Given the description of an element on the screen output the (x, y) to click on. 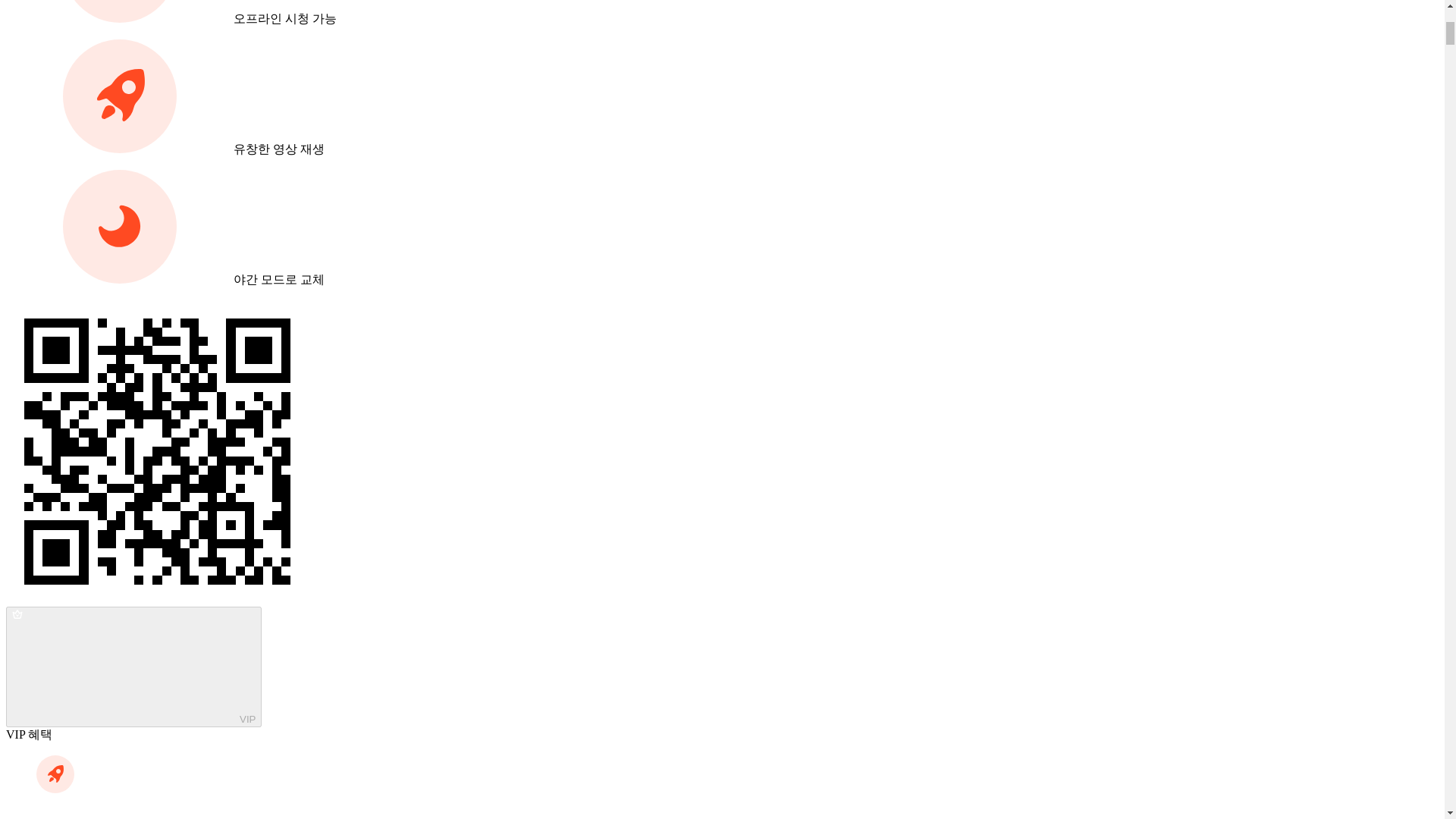
VIP (133, 666)
